Given the description of an element on the screen output the (x, y) to click on. 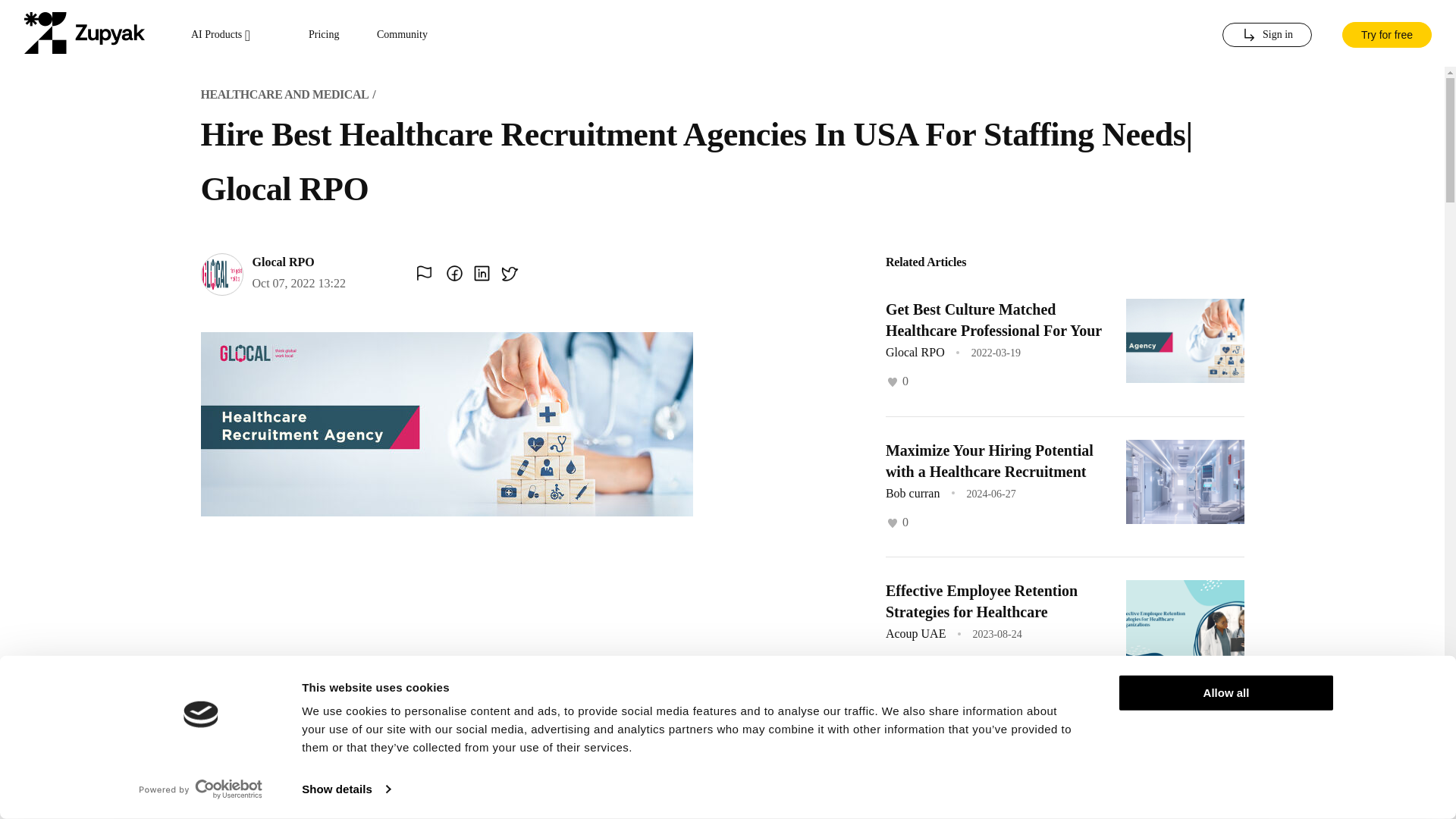
Show details (345, 789)
Healthcare Recruitment Agencies (993, 731)
